Given the description of an element on the screen output the (x, y) to click on. 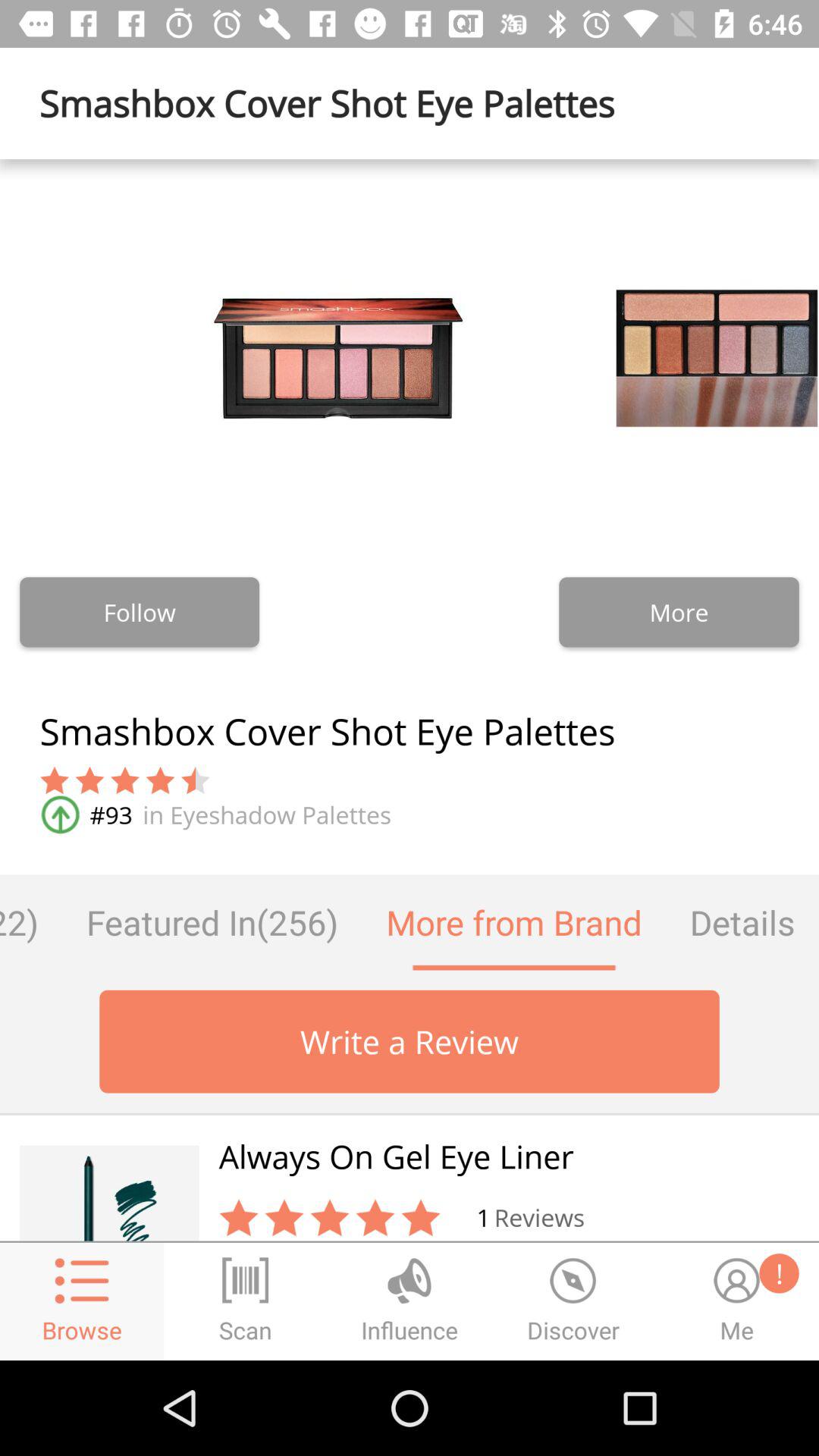
tap the icon to the right of more from brand (742, 922)
